Given the description of an element on the screen output the (x, y) to click on. 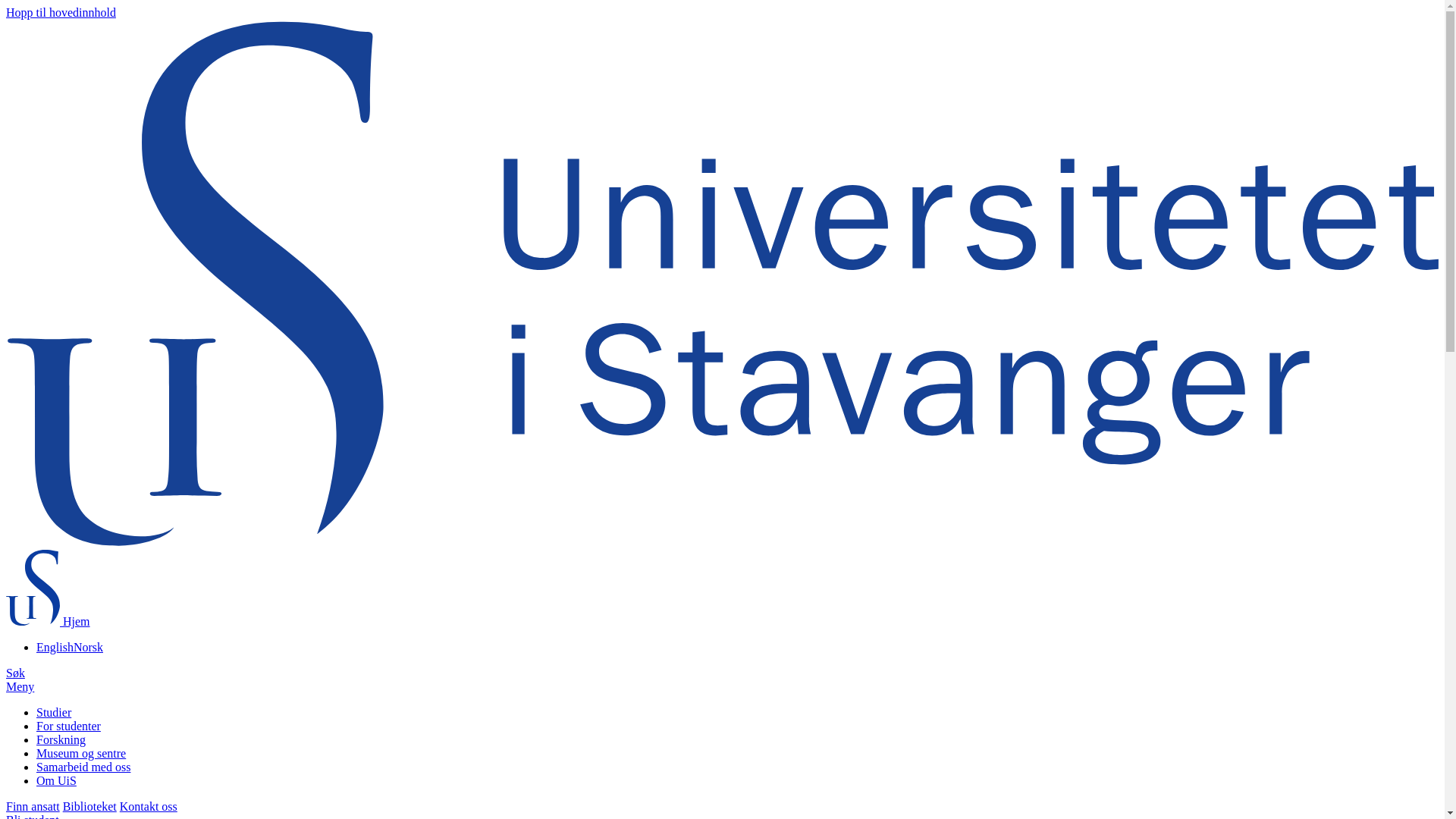
Museum og sentre (80, 753)
Biblioteket (89, 806)
Hopp til hovedinnhold (60, 11)
English (55, 646)
Meny (19, 686)
Norsk (88, 646)
For studenter (68, 725)
Bli student (32, 816)
Om UiS (56, 780)
Studier (53, 712)
